Given the description of an element on the screen output the (x, y) to click on. 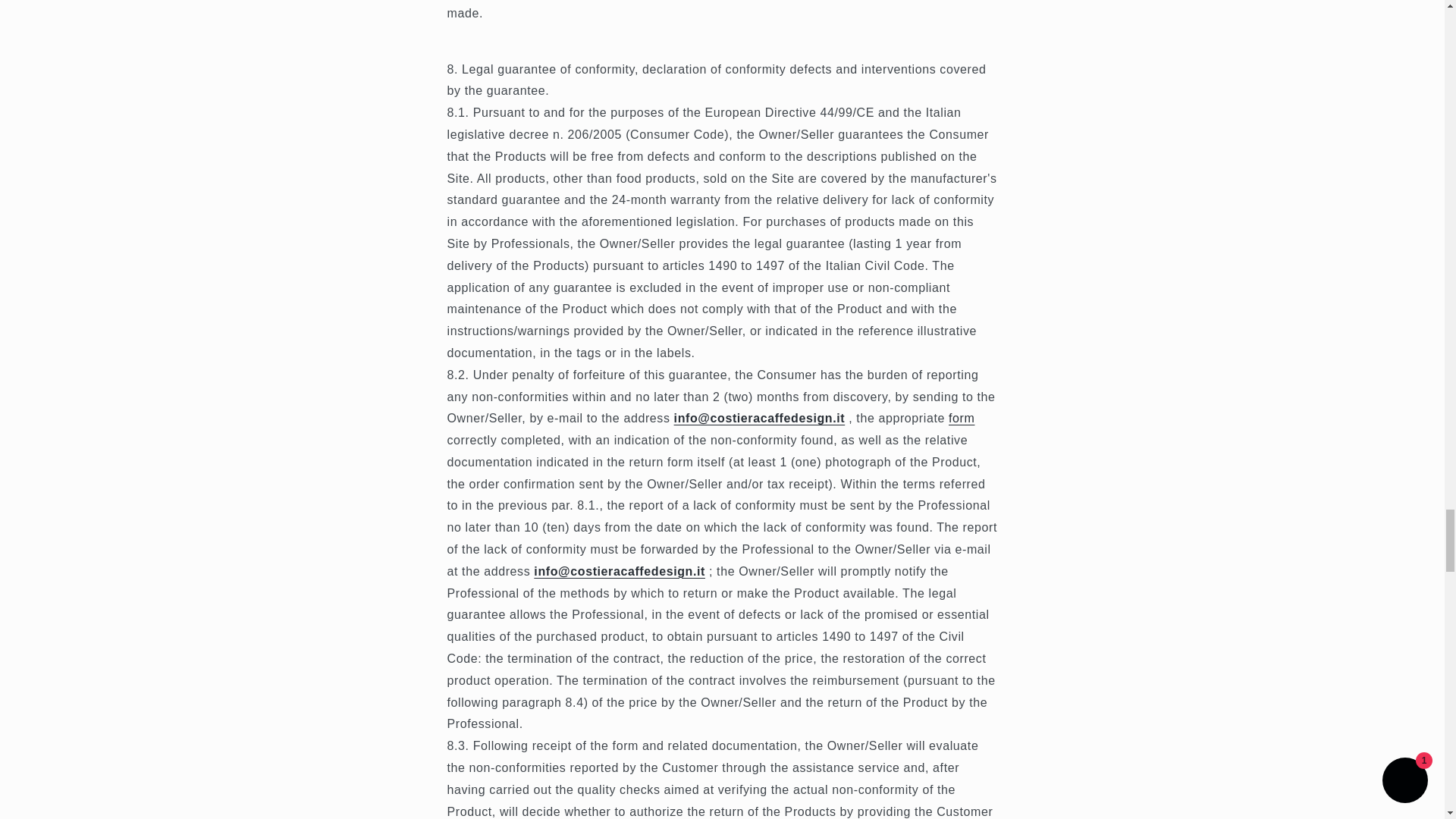
form (961, 418)
